Given the description of an element on the screen output the (x, y) to click on. 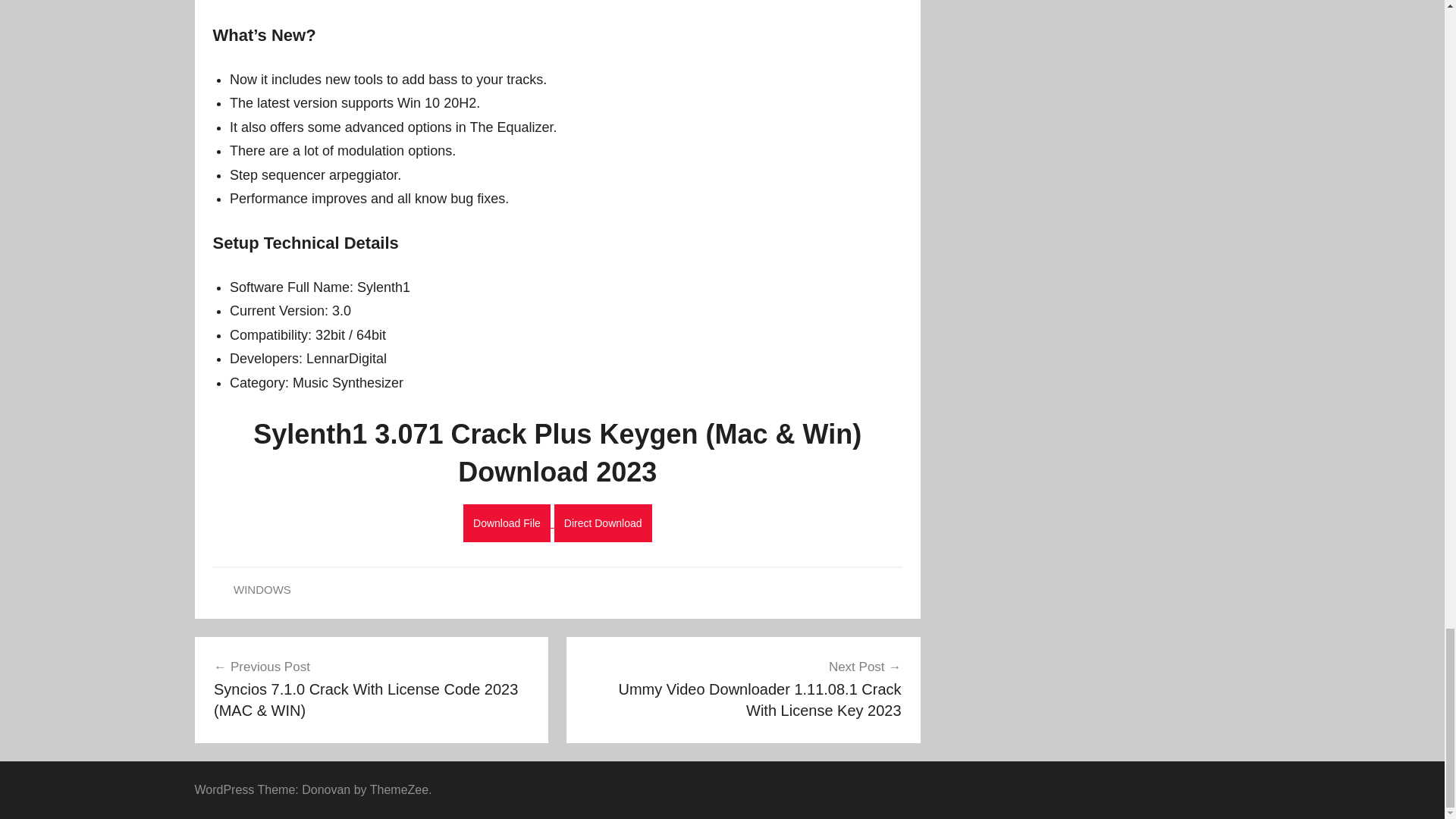
WINDOWS (261, 589)
Direct Download (603, 523)
Download File Direct Download (556, 522)
Download File (506, 523)
